Given the description of an element on the screen output the (x, y) to click on. 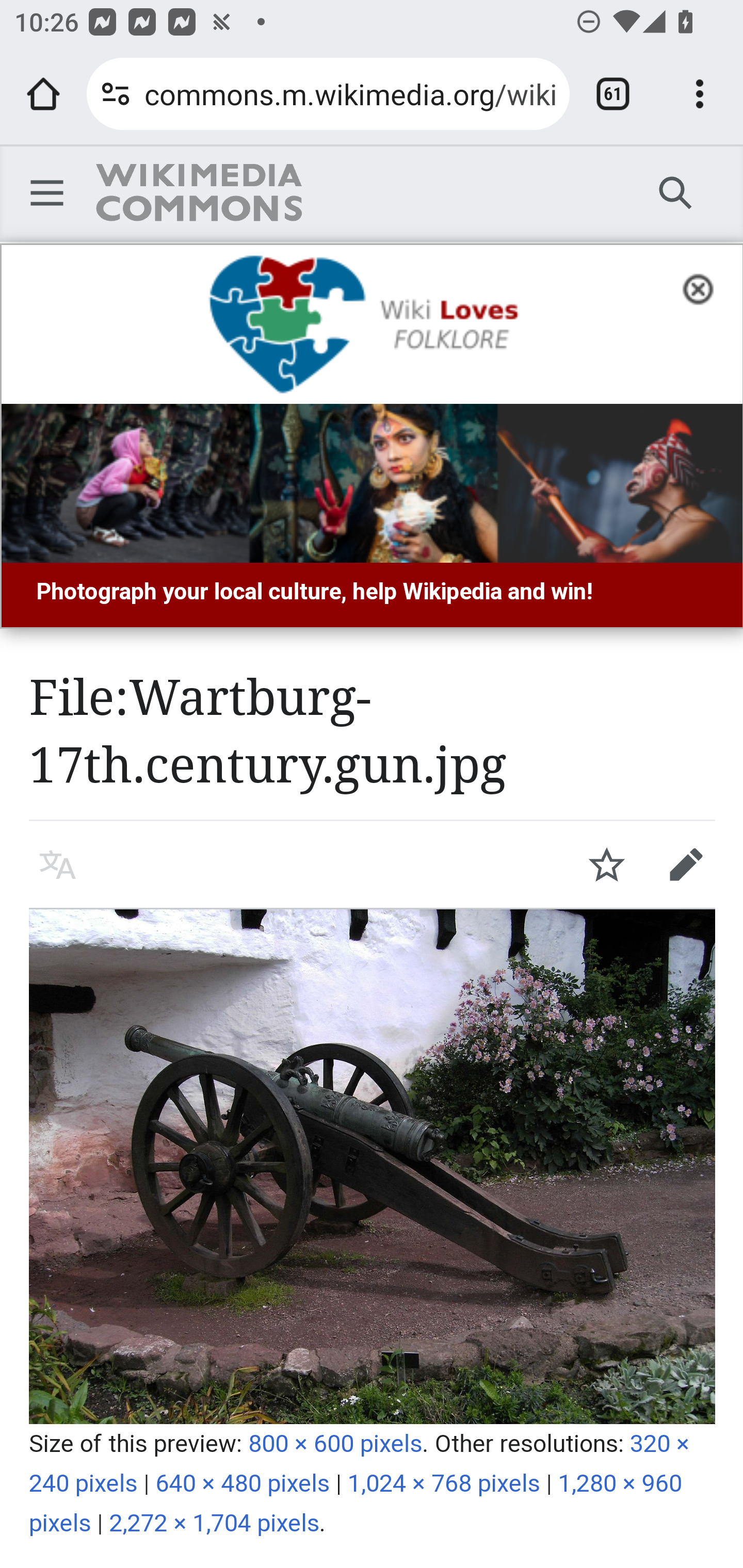
Open the home page (43, 93)
Connection is secure (115, 93)
Switch or close tabs (612, 93)
Customize and control Google Chrome (699, 93)
Search (676, 192)
Wikimedia Commons (198, 192)
Hide (703, 286)
Language (57, 864)
Watch (606, 864)
Edit (686, 864)
File:Wartburg-17th.century.gun.jpg (372, 1165)
320 × 240 pixels (359, 1463)
800 × 600 pixels (335, 1443)
1,280 × 960 pixels (355, 1502)
640 × 480 pixels (242, 1483)
1,024 × 768 pixels (443, 1483)
2,272 × 1,704 pixels (214, 1522)
